Given the description of an element on the screen output the (x, y) to click on. 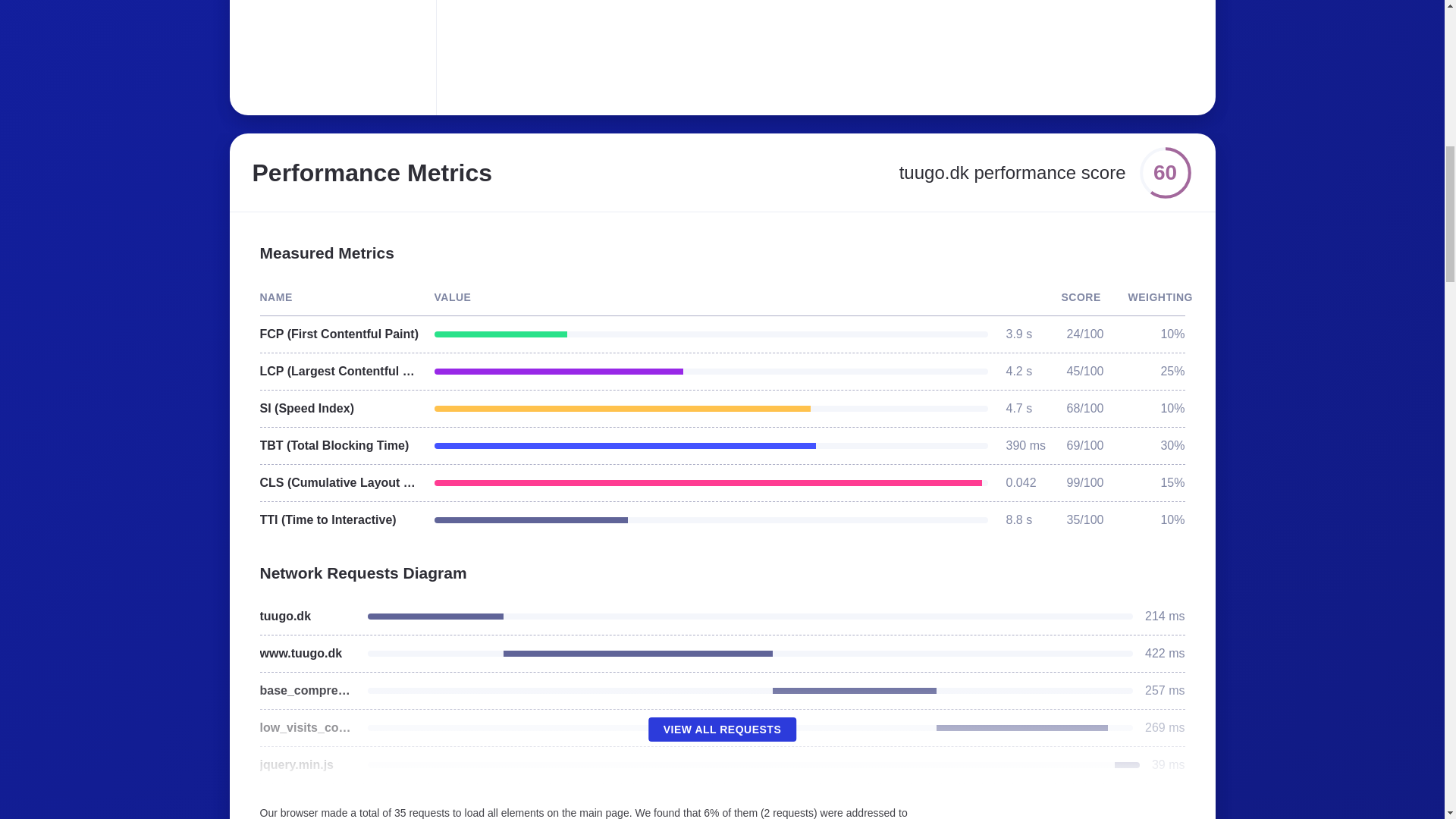
VIEW ALL REQUESTS (721, 729)
